Given the description of an element on the screen output the (x, y) to click on. 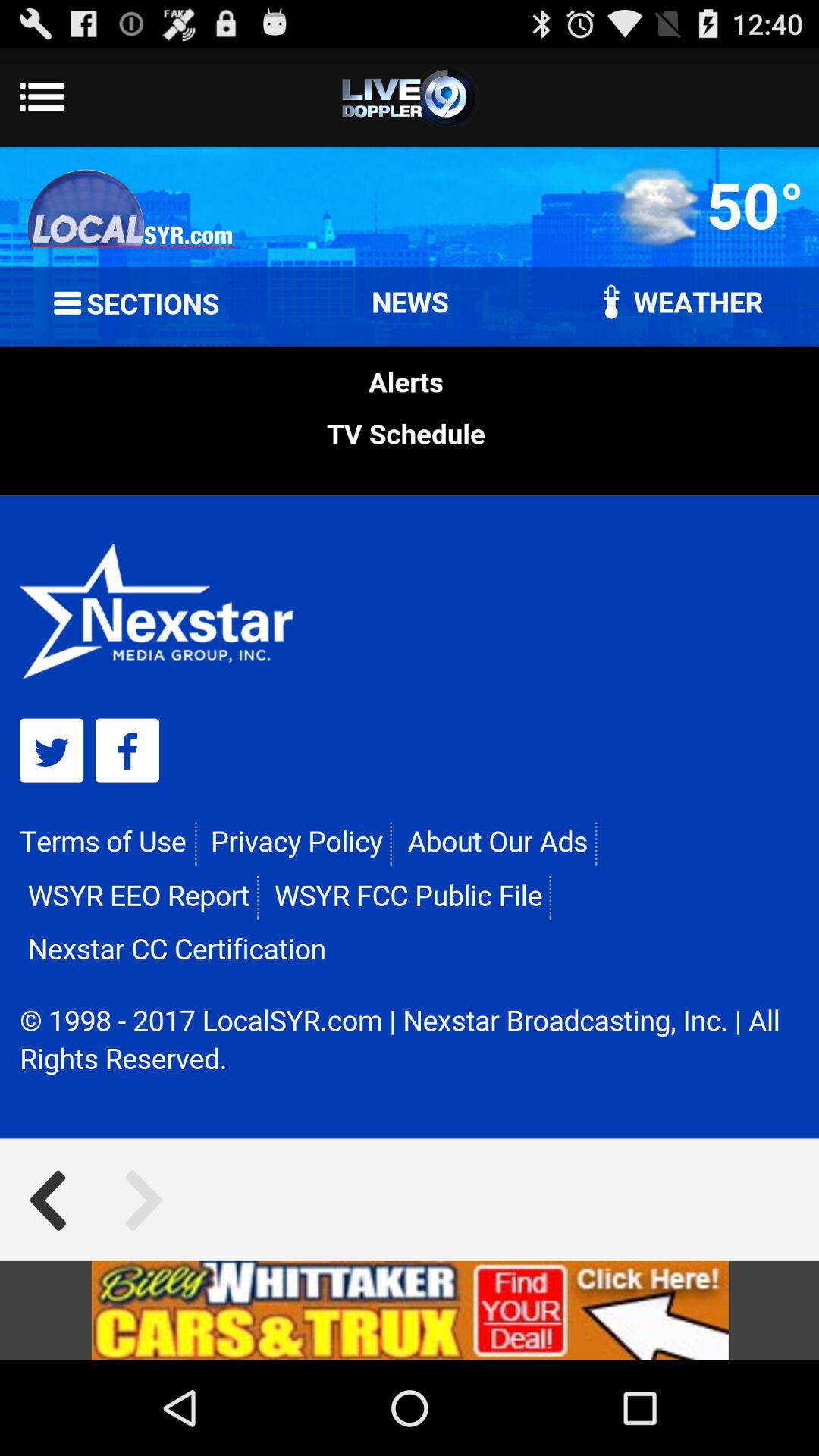
click to menu option (409, 97)
